Given the description of an element on the screen output the (x, y) to click on. 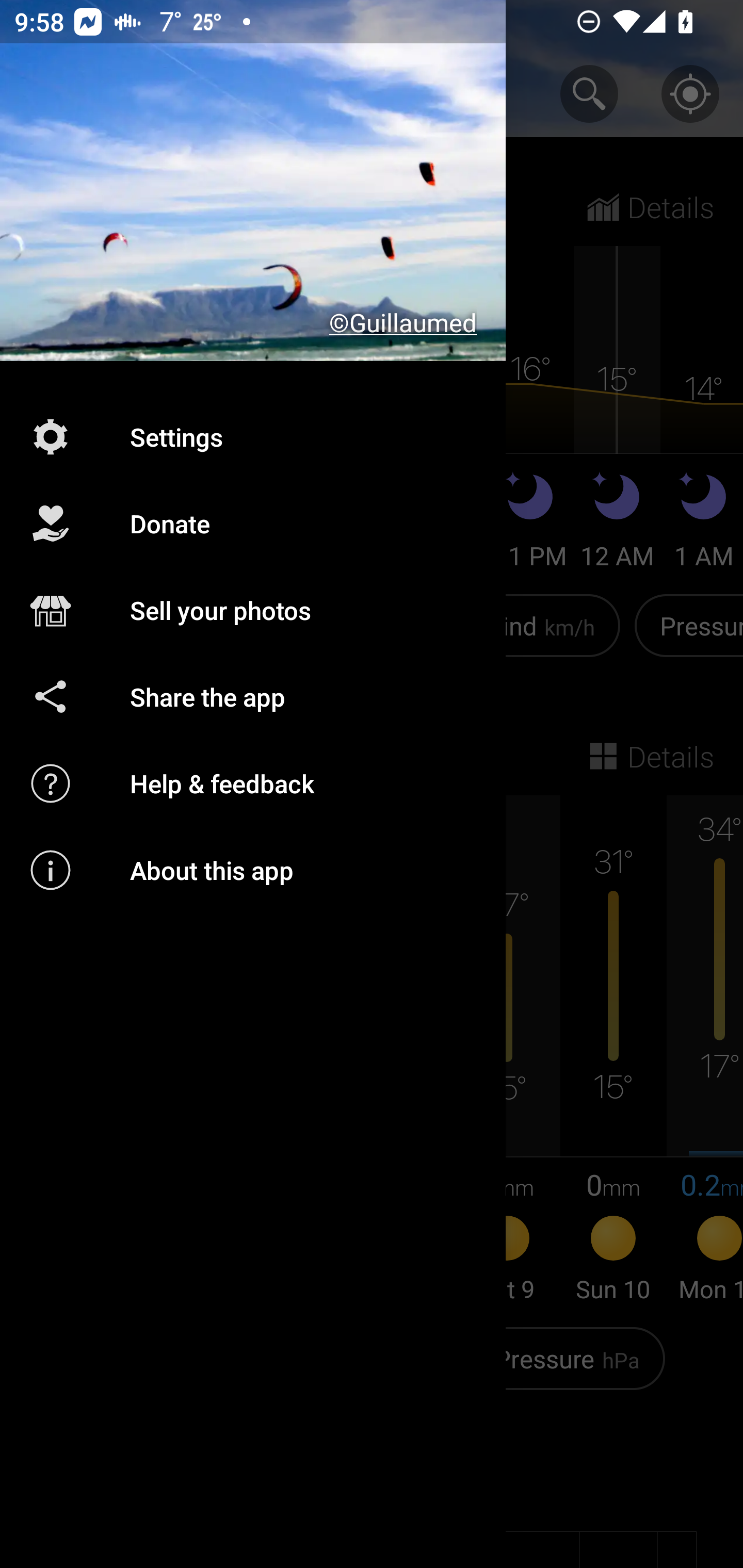
©Guillaumed (252, 180)
Settings (252, 436)
Donate (252, 523)
Sell your photos (252, 610)
Share the app (252, 696)
Help & feedback (252, 783)
About this app (252, 870)
